Given the description of an element on the screen output the (x, y) to click on. 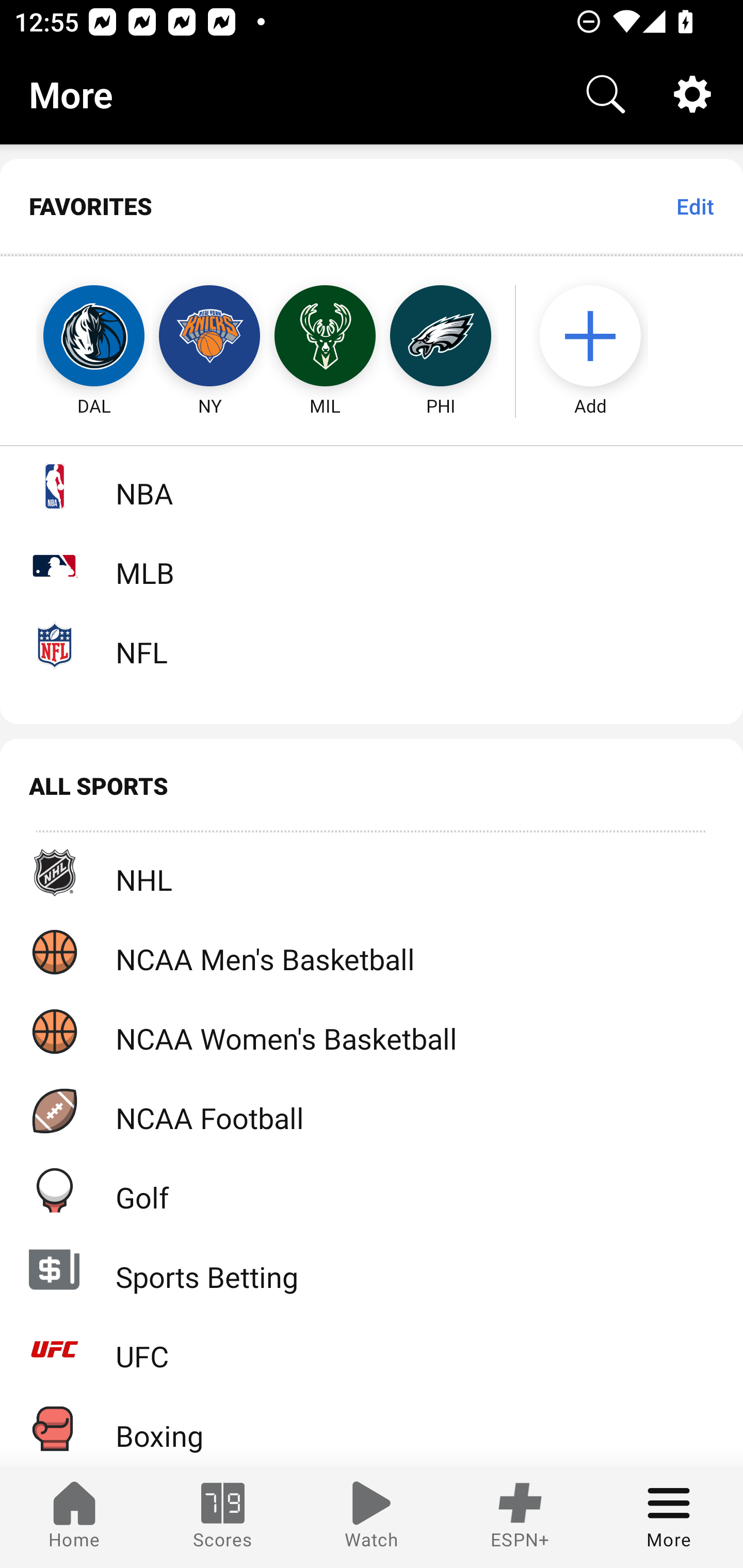
Search (605, 93)
Settings (692, 93)
Edit (695, 205)
DAL Dallas Mavericks (75, 336)
NY New York Knicks (209, 336)
MIL Milwaukee Bucks (324, 336)
PHI Philadelphia Eagles (440, 336)
 Add (599, 336)
NBA (371, 485)
MLB (371, 565)
NFL (371, 645)
NHL (371, 872)
NCAA Men's Basketball (371, 951)
NCAA Women's Basketball (371, 1030)
NCAA Football (371, 1110)
Golf (371, 1189)
Sports Betting (371, 1269)
UFC (371, 1349)
Boxing (371, 1428)
Home (74, 1517)
Scores (222, 1517)
Watch (371, 1517)
ESPN+ (519, 1517)
